Given the description of an element on the screen output the (x, y) to click on. 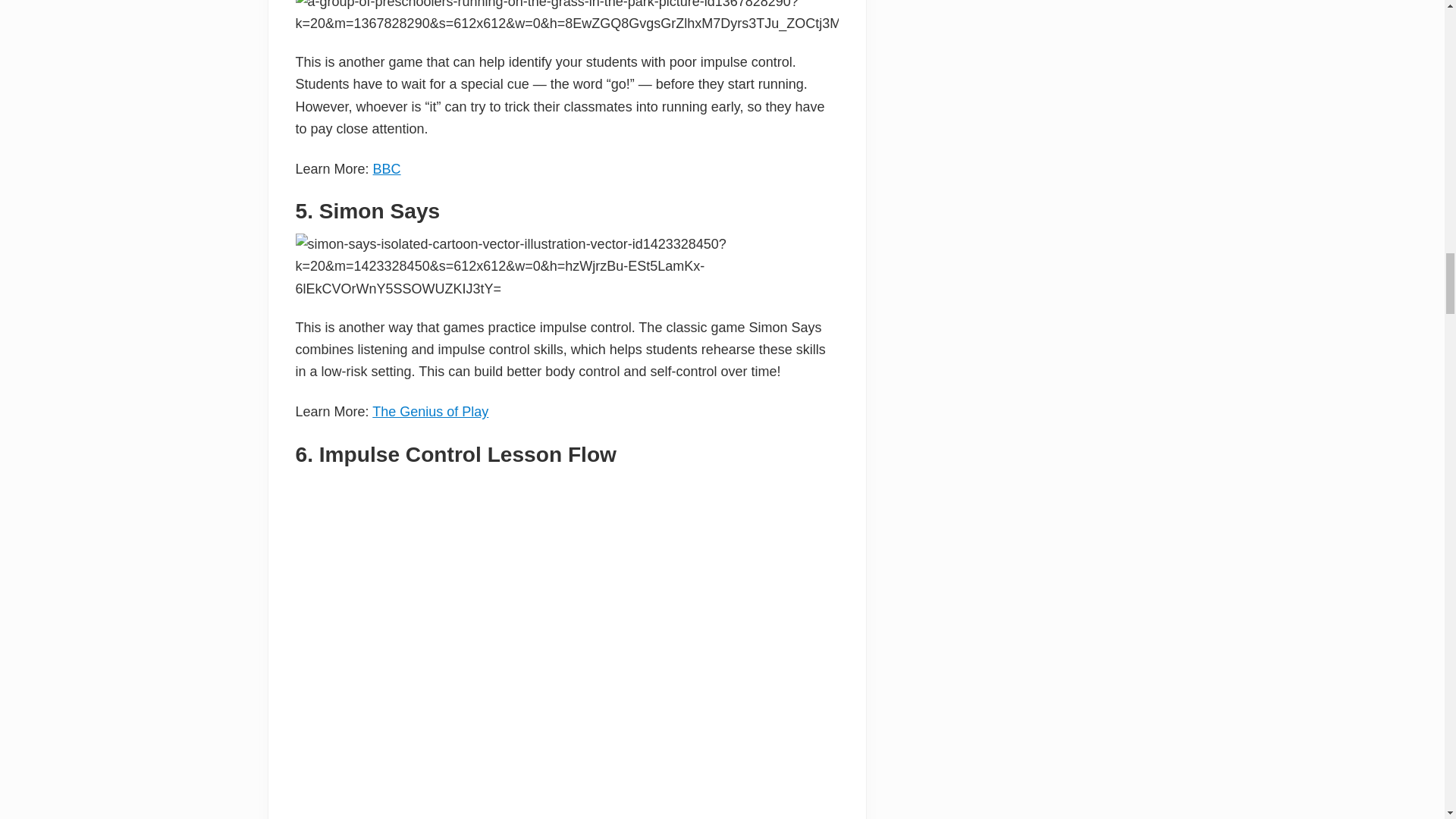
The Genius of Play (429, 411)
BBC (386, 168)
